Given the description of an element on the screen output the (x, y) to click on. 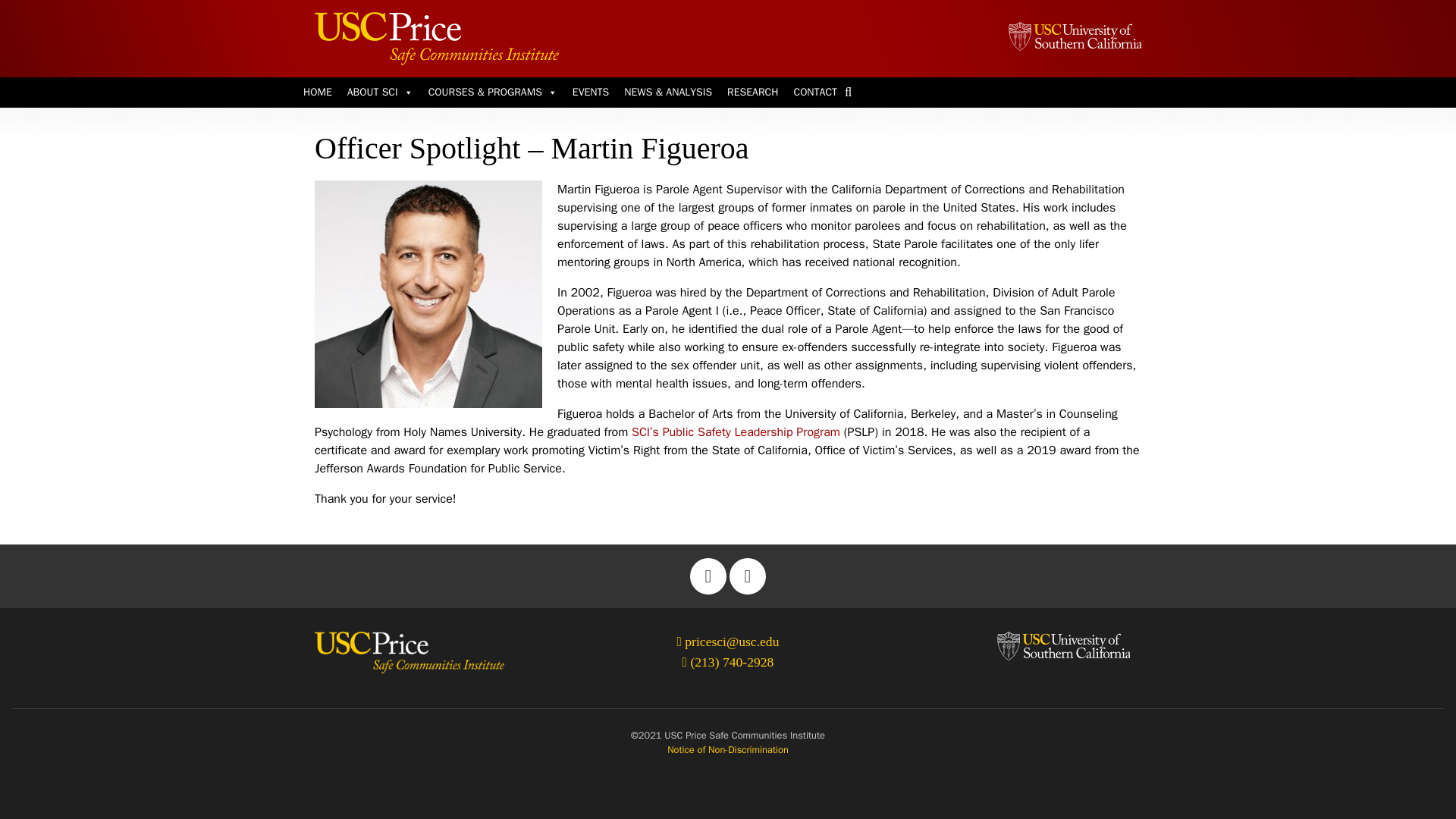
University of Southern California (1074, 36)
RESEARCH (752, 91)
Twitter (708, 575)
Twitter (708, 575)
EVENTS (589, 91)
HOME (317, 91)
ABOUT SCI (379, 91)
YouTube (747, 575)
YouTube (747, 575)
CONTACT (815, 91)
